Given the description of an element on the screen output the (x, y) to click on. 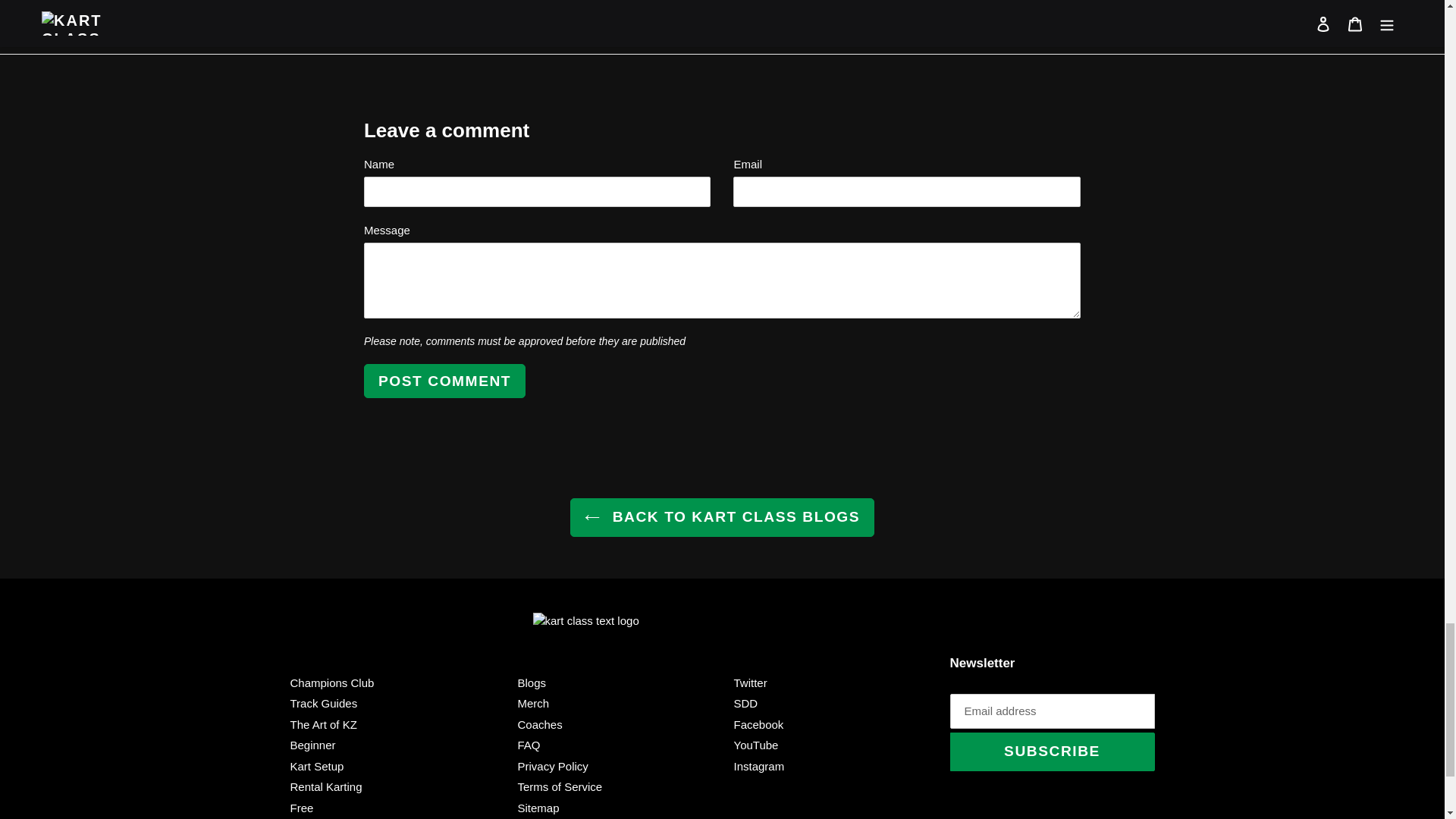
Post comment (444, 380)
